Given the description of an element on the screen output the (x, y) to click on. 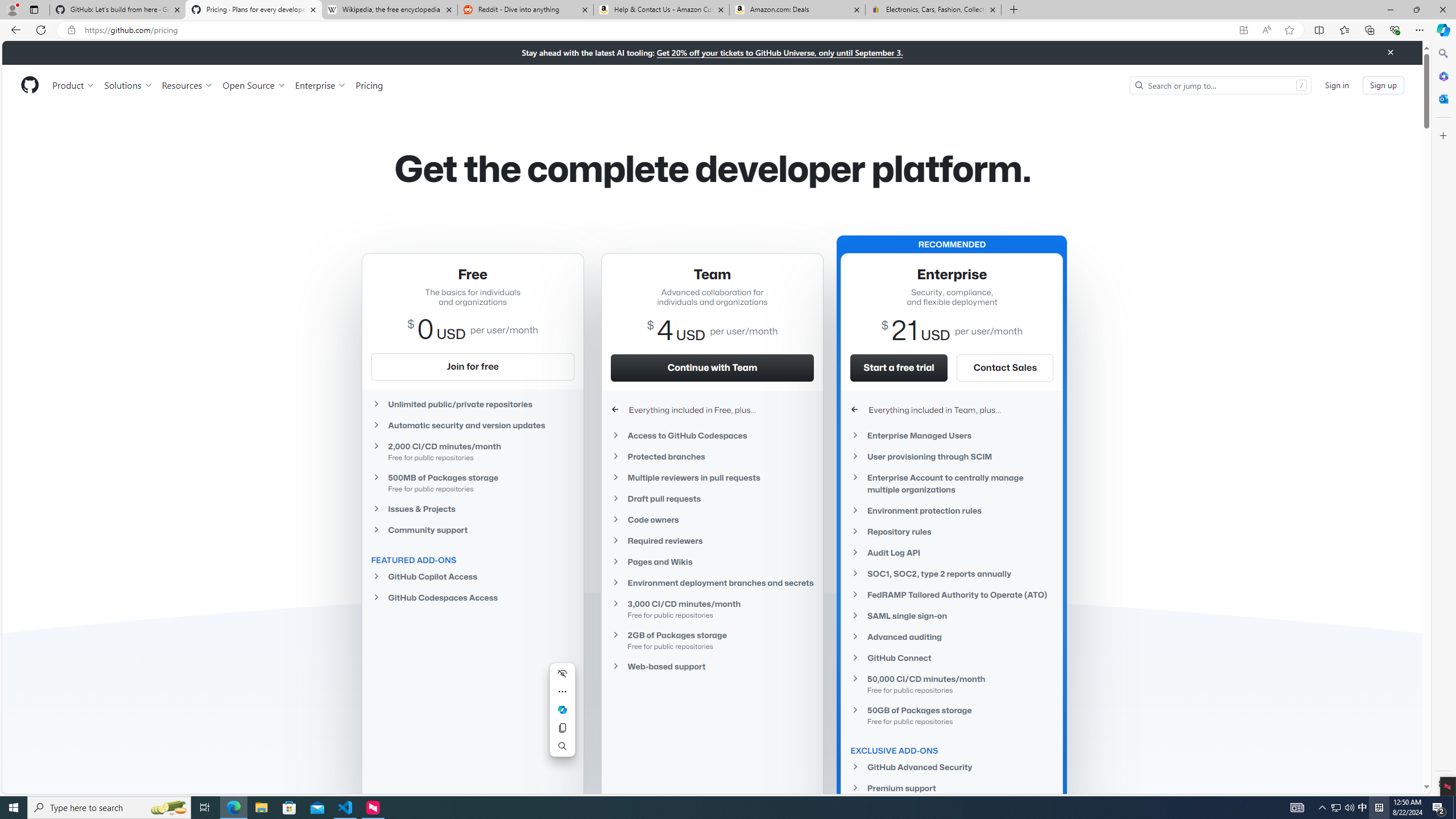
FedRAMP Tailored Authority to Operate (ATO) (952, 594)
Environment deployment branches and secrets (711, 582)
50,000 CI/CD minutes/month Free for public repositories (952, 684)
Issues & Projects (473, 508)
SAML single sign-on (952, 615)
Mini menu on text selection (562, 709)
Automatic security and version updates (473, 425)
Required reviewers (711, 540)
Issues & Projects (473, 508)
SAML single sign-on (952, 615)
